Given the description of an element on the screen output the (x, y) to click on. 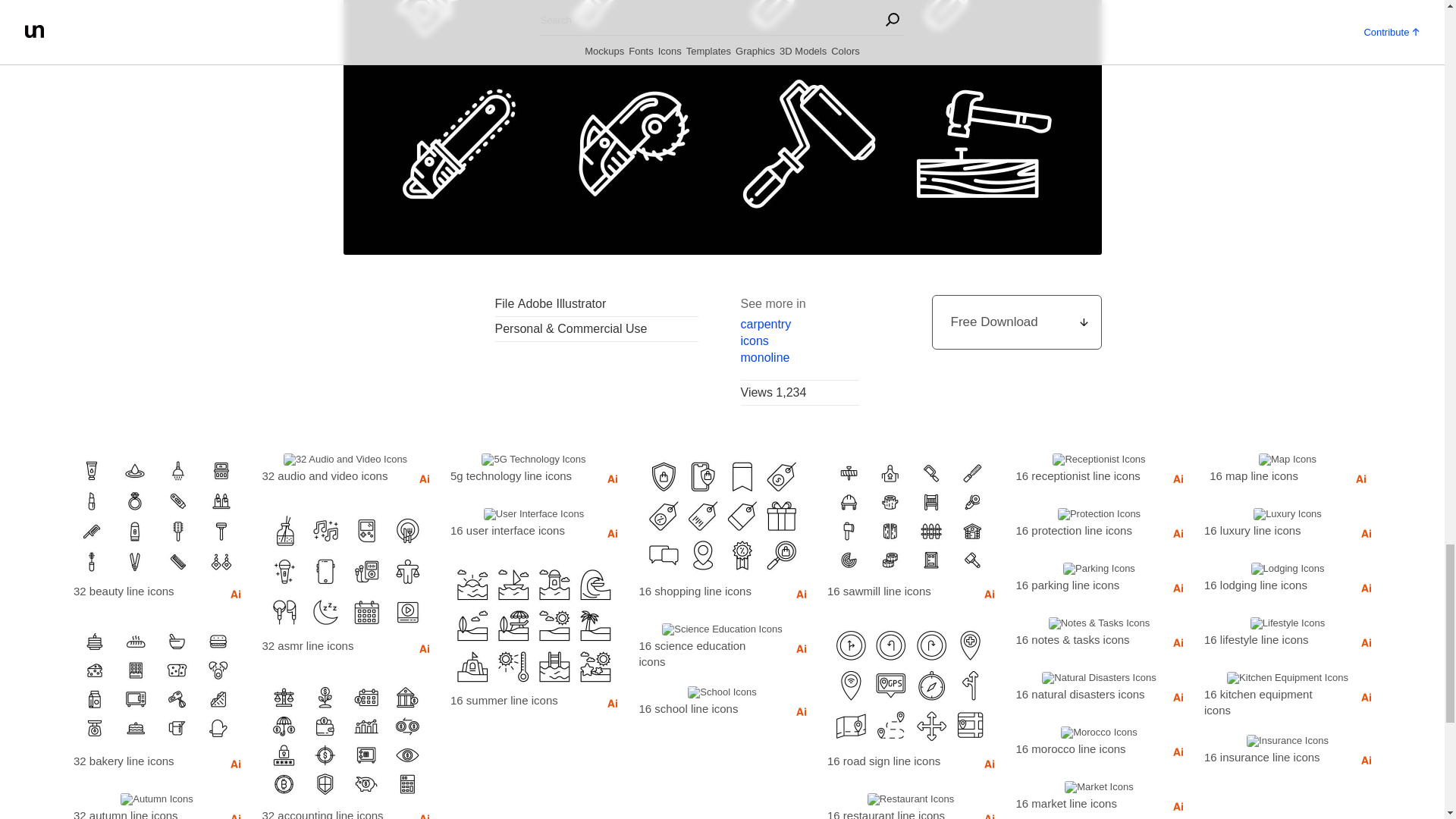
icons (799, 340)
32 asmr line icons (329, 645)
32 audio and video icons (329, 475)
16 science education icons (705, 652)
32 accounting line icons (329, 812)
16 summer line icons (516, 700)
monoline (799, 357)
32 autumn line icons (140, 812)
Free Download (1015, 321)
16 school line icons (705, 708)
16 user interface icons (516, 529)
32 bakery line icons (140, 760)
5g technology line icons (516, 475)
16 shopping line icons (705, 590)
32 beauty line icons (140, 590)
